Given the description of an element on the screen output the (x, y) to click on. 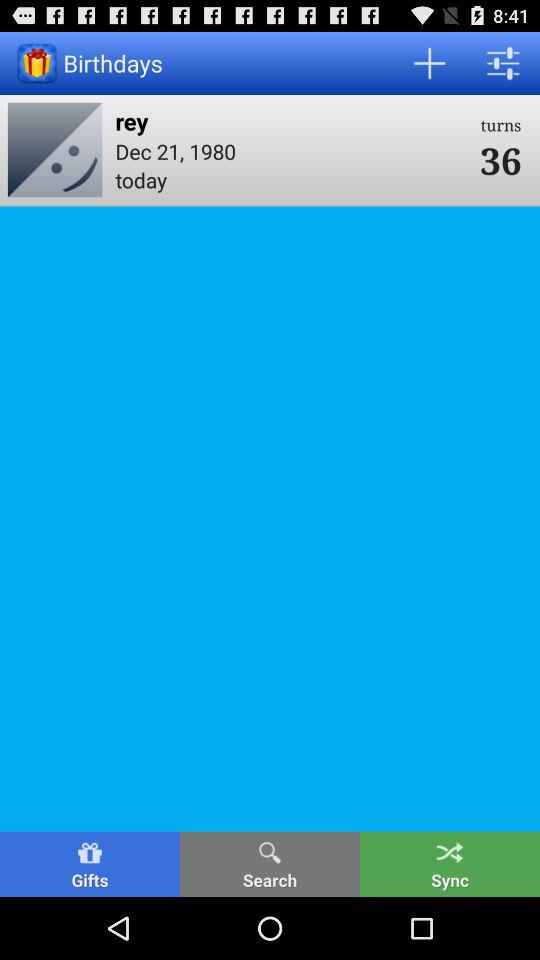
choose item next to sync icon (270, 863)
